Given the description of an element on the screen output the (x, y) to click on. 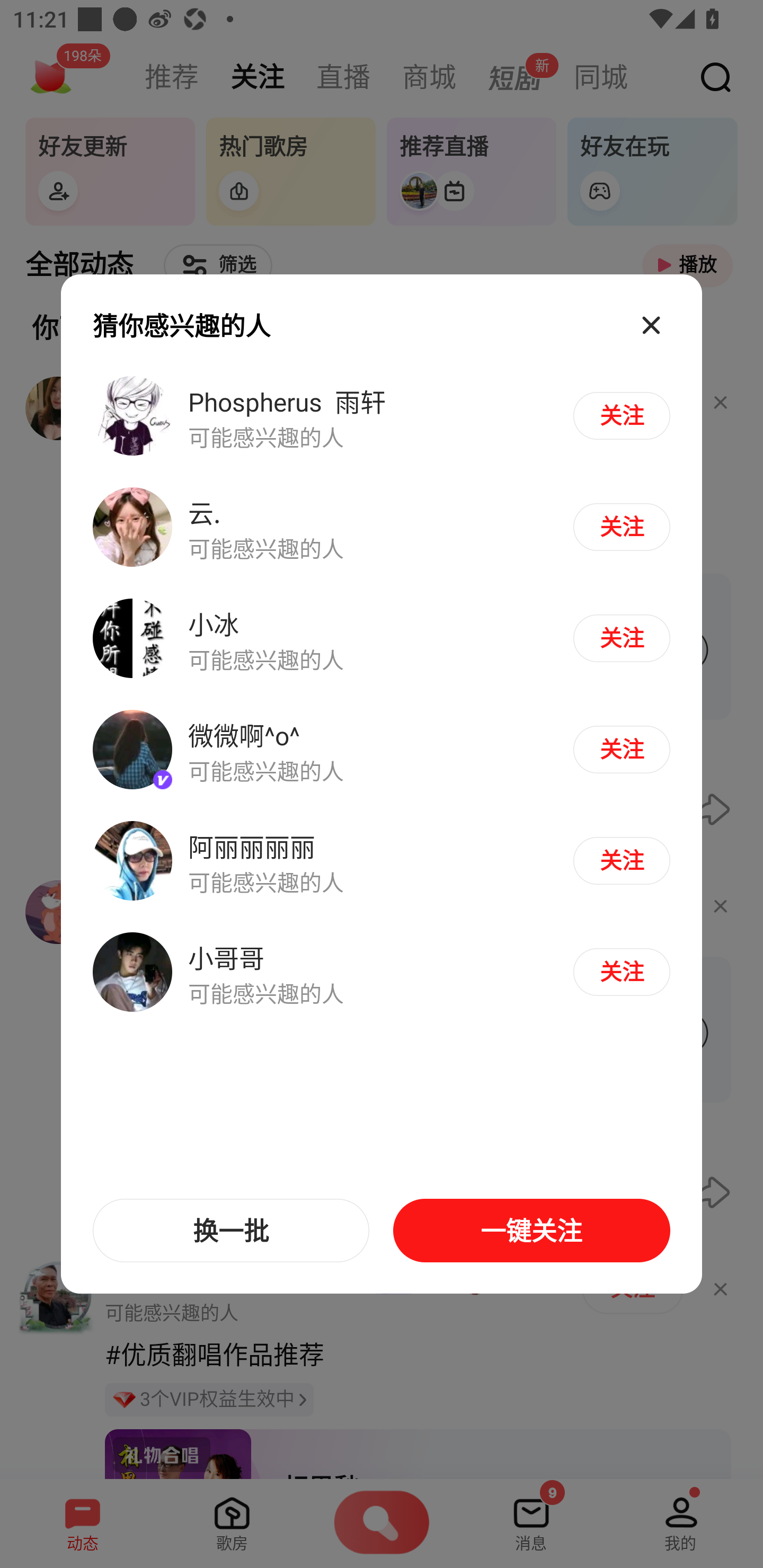
Phospherus  雨轩 可能感兴趣的人 关注 按钮 (381, 415)
关注 按钮 (621, 415)
云. 可能感兴趣的人 关注 按钮 (381, 527)
关注 按钮 (621, 526)
小冰 可能感兴趣的人 关注 按钮 (381, 638)
关注 按钮 (621, 637)
微微啊^o^ 可能感兴趣的人 关注 按钮 (381, 749)
关注 按钮 (621, 749)
阿丽丽丽丽 可能感兴趣的人 关注 按钮 (381, 860)
关注 按钮 (621, 860)
小哥哥 可能感兴趣的人 关注 按钮 (381, 971)
关注 按钮 (621, 971)
换一批 按钮 (231, 1230)
一键关注 按钮 (530, 1230)
